Given the description of an element on the screen output the (x, y) to click on. 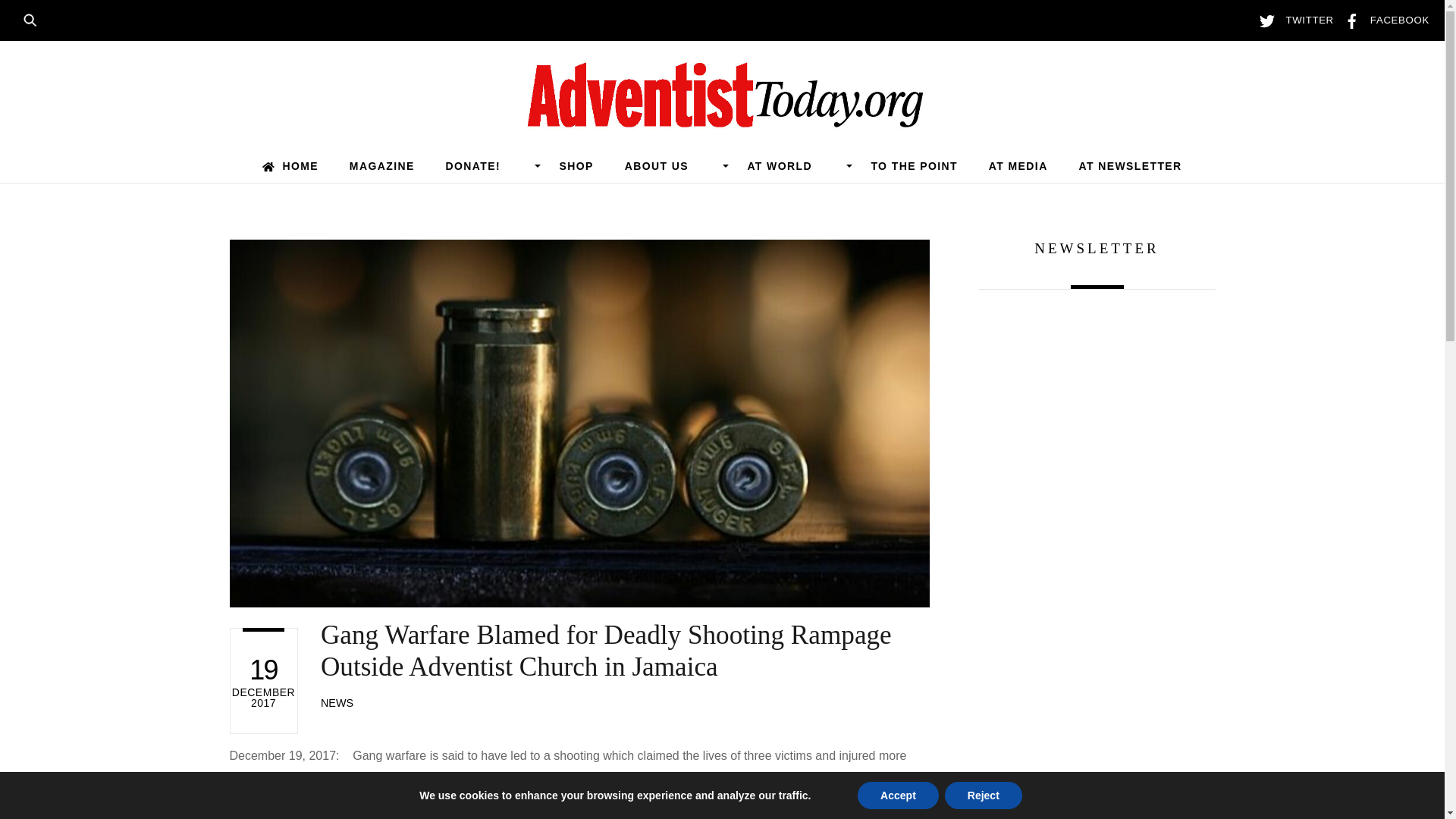
AT NEWSLETTER (1129, 165)
ABOUT US (669, 165)
MAGAZINE (381, 165)
TO THE POINT (913, 165)
AT WORLD (793, 165)
NEWS (336, 702)
SHOP (576, 165)
Search (35, 18)
AT MEDIA (1017, 165)
TWITTER (1292, 19)
DONATE! (486, 165)
HOME (290, 165)
Adventist Today (722, 119)
